Given the description of an element on the screen output the (x, y) to click on. 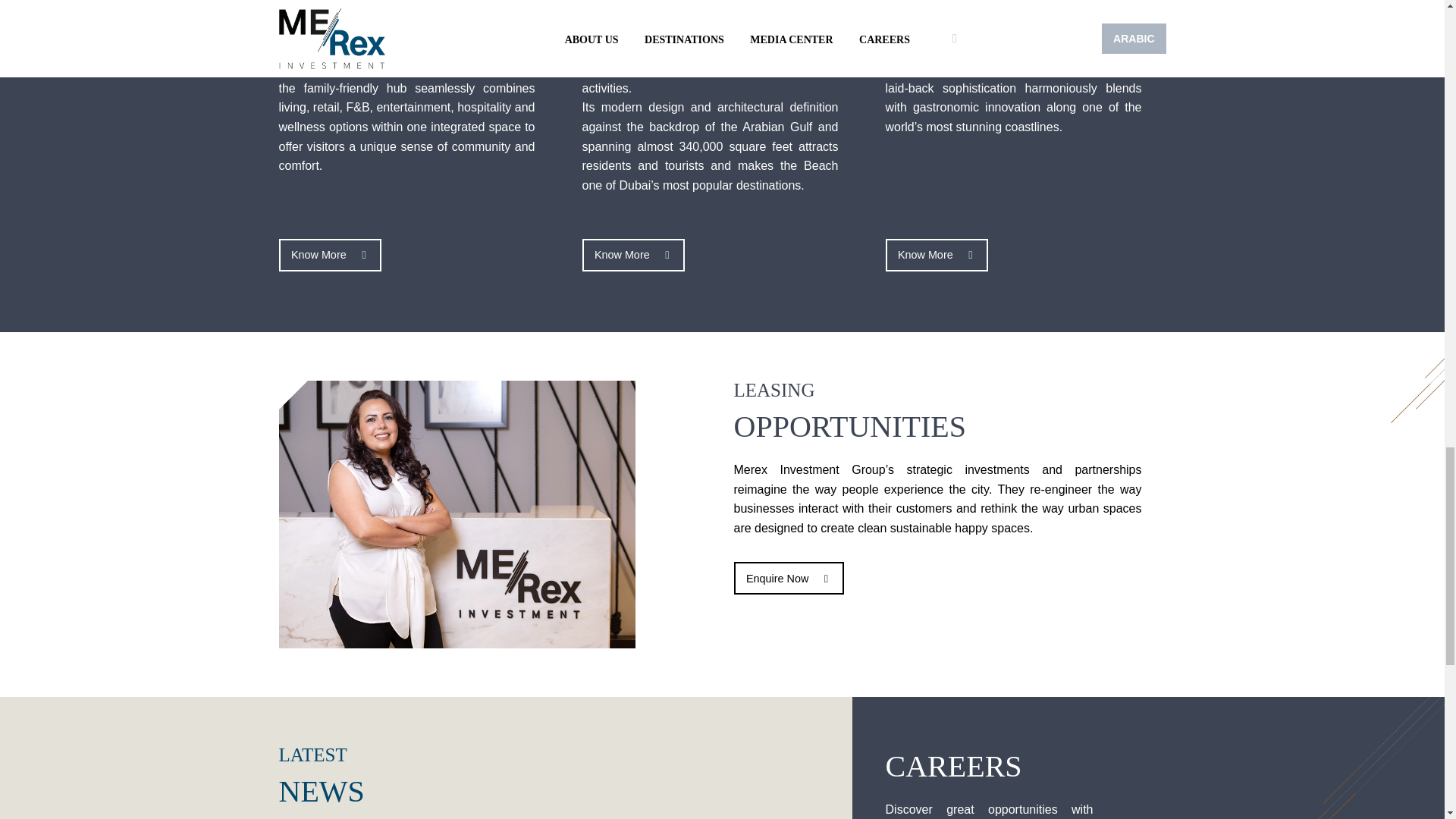
Know More (330, 255)
